Given the description of an element on the screen output the (x, y) to click on. 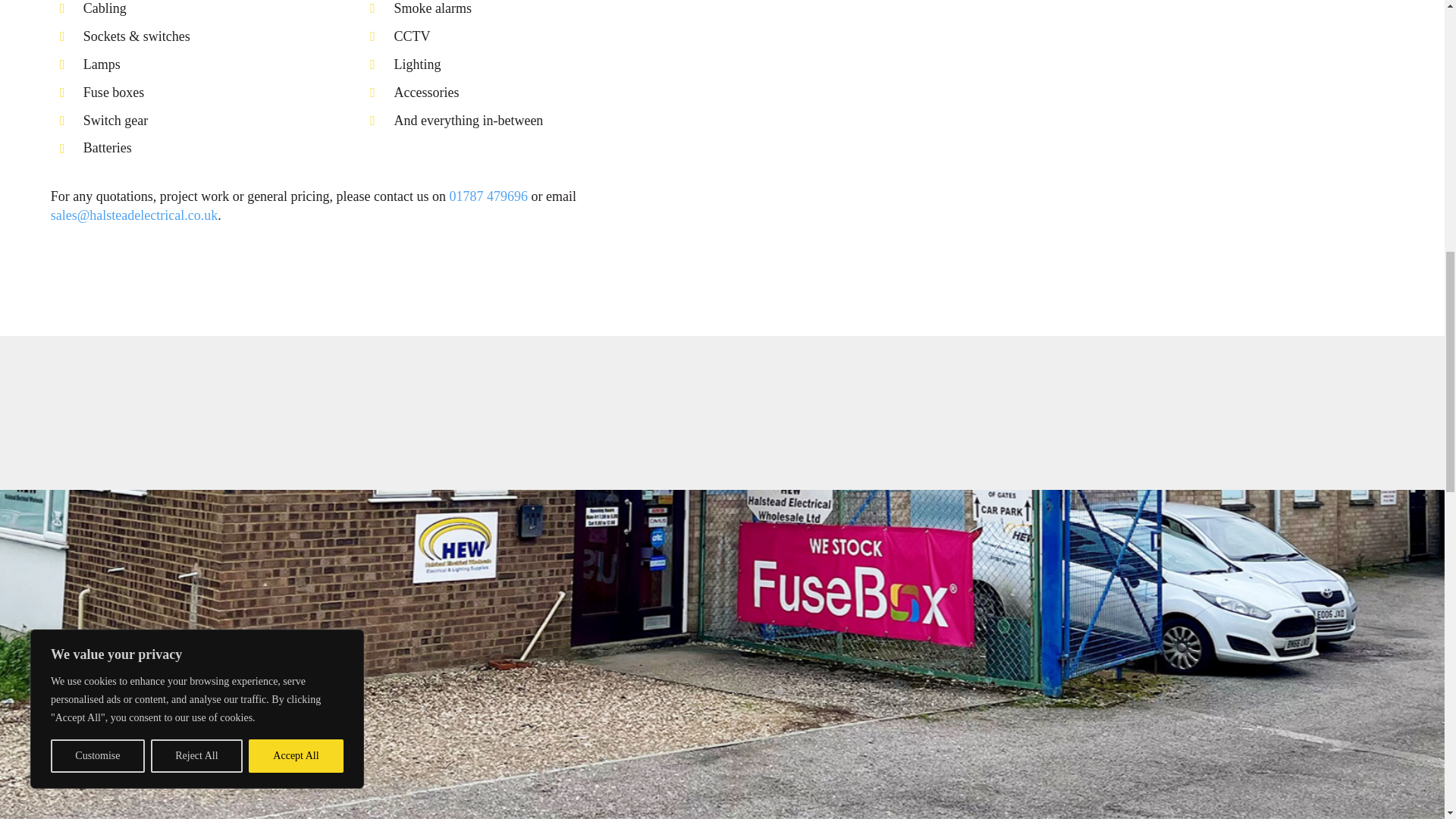
01787 479696 (488, 196)
